Given the description of an element on the screen output the (x, y) to click on. 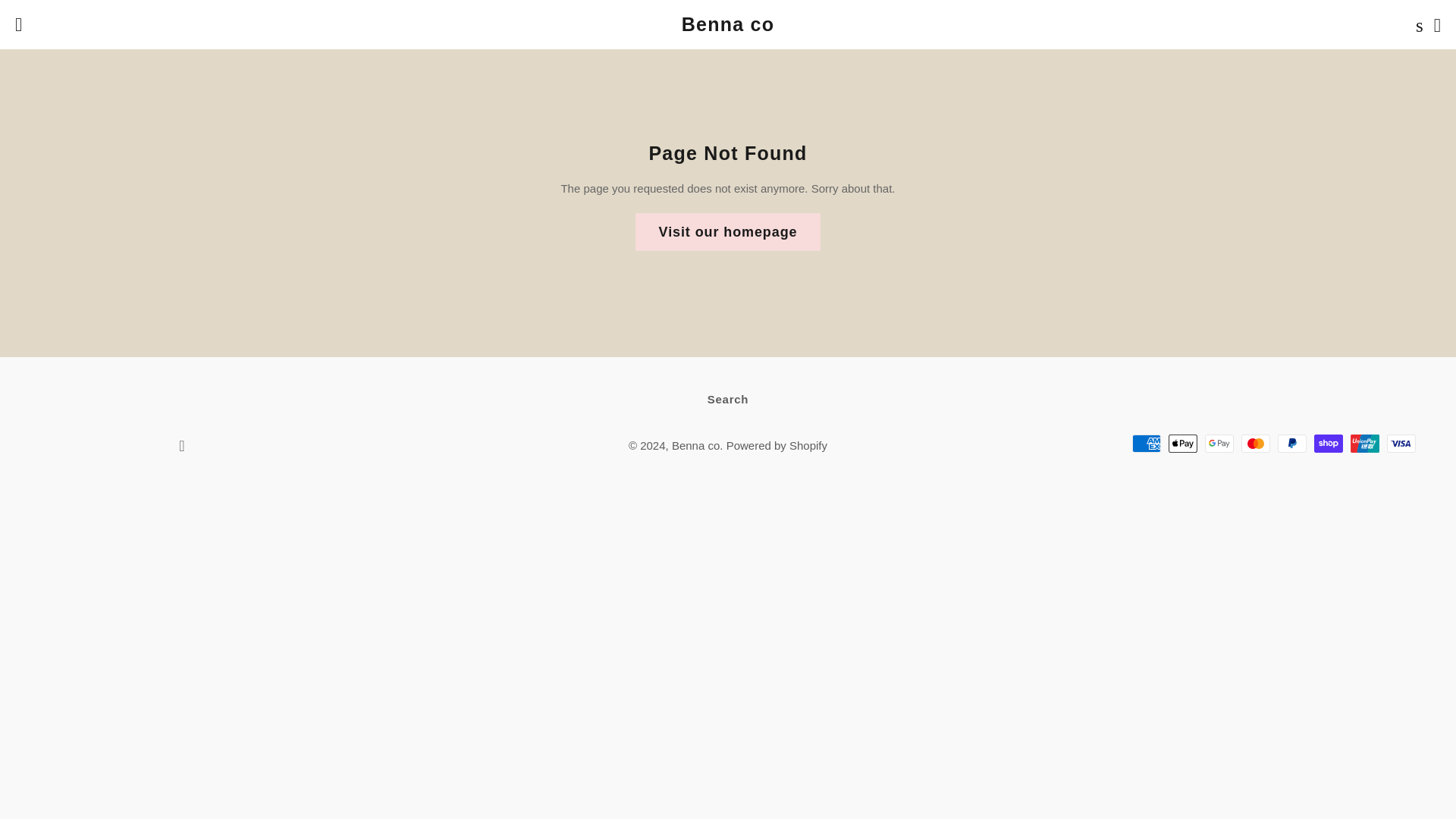
American Express (1146, 443)
Mastercard (1255, 443)
Benna co (727, 24)
Visa (1401, 443)
PayPal (1292, 443)
Shop Pay (1328, 443)
Union Pay (1364, 443)
Search (728, 399)
Apple Pay (1182, 443)
Powered by Shopify (776, 445)
Visit our homepage (727, 231)
Benna co (695, 445)
Google Pay (1219, 443)
